Given the description of an element on the screen output the (x, y) to click on. 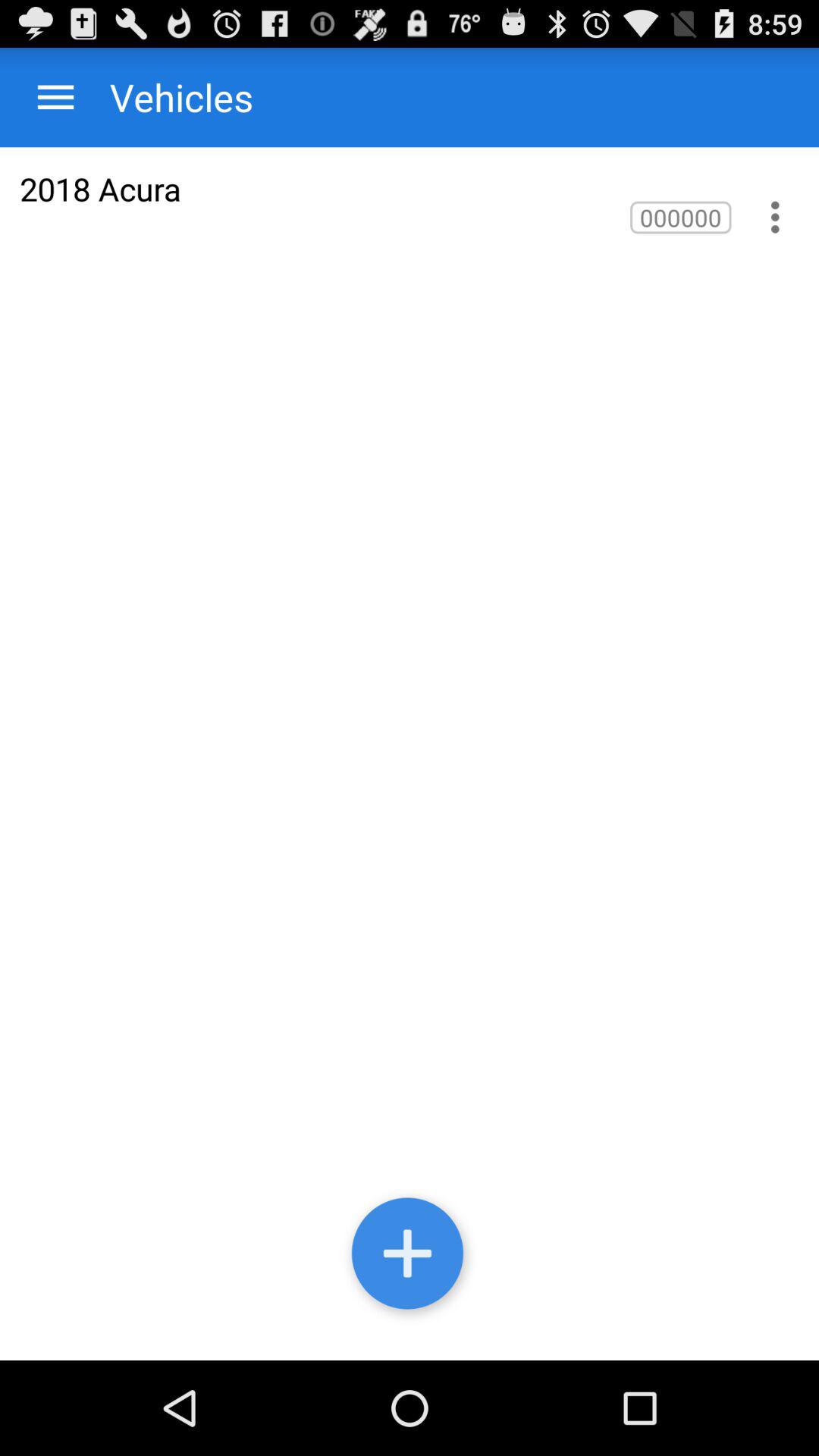
add sign (409, 1256)
